Given the description of an element on the screen output the (x, y) to click on. 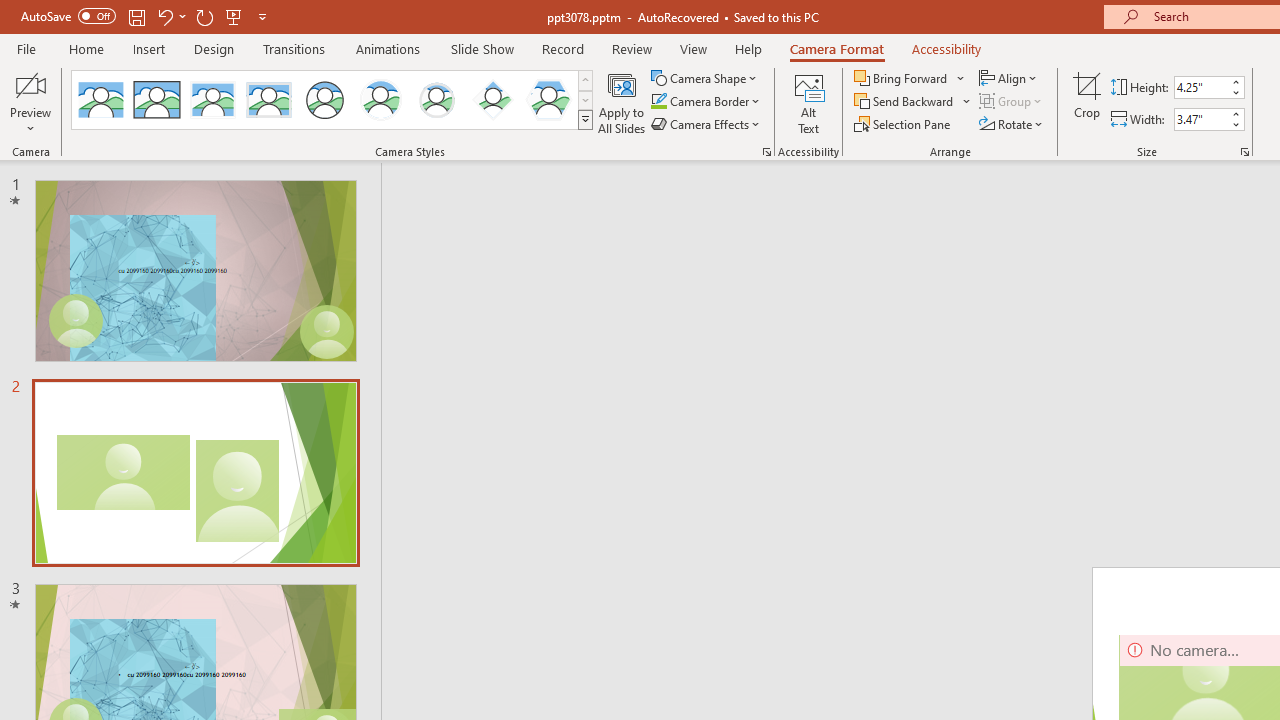
Send Backward (905, 101)
Soft Edge Circle (436, 100)
Center Shadow Circle (381, 100)
Center Shadow Rectangle (212, 100)
No Style (100, 100)
Send Backward (913, 101)
AutomationID: CameoStylesGallery (333, 99)
